Given the description of an element on the screen output the (x, y) to click on. 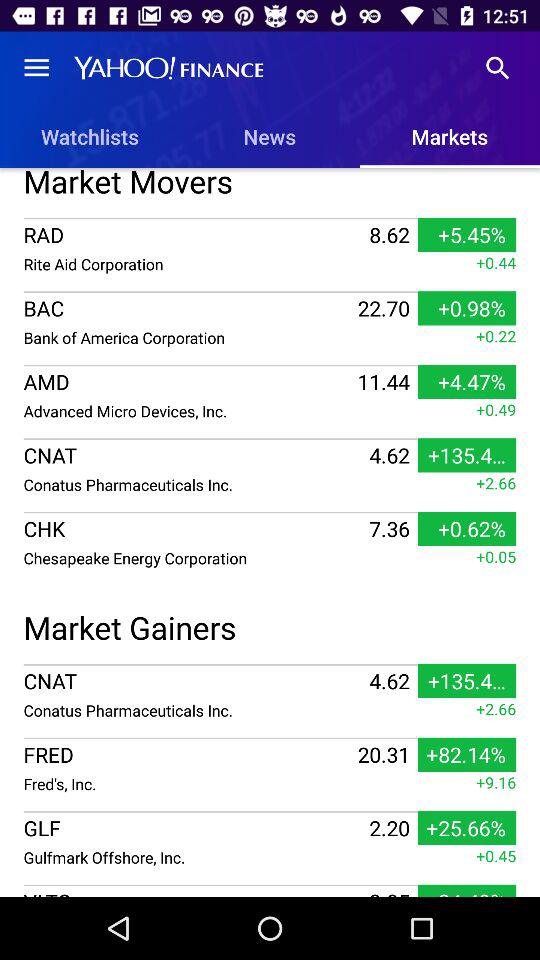
select item above the +0.05 icon (269, 512)
